Given the description of an element on the screen output the (x, y) to click on. 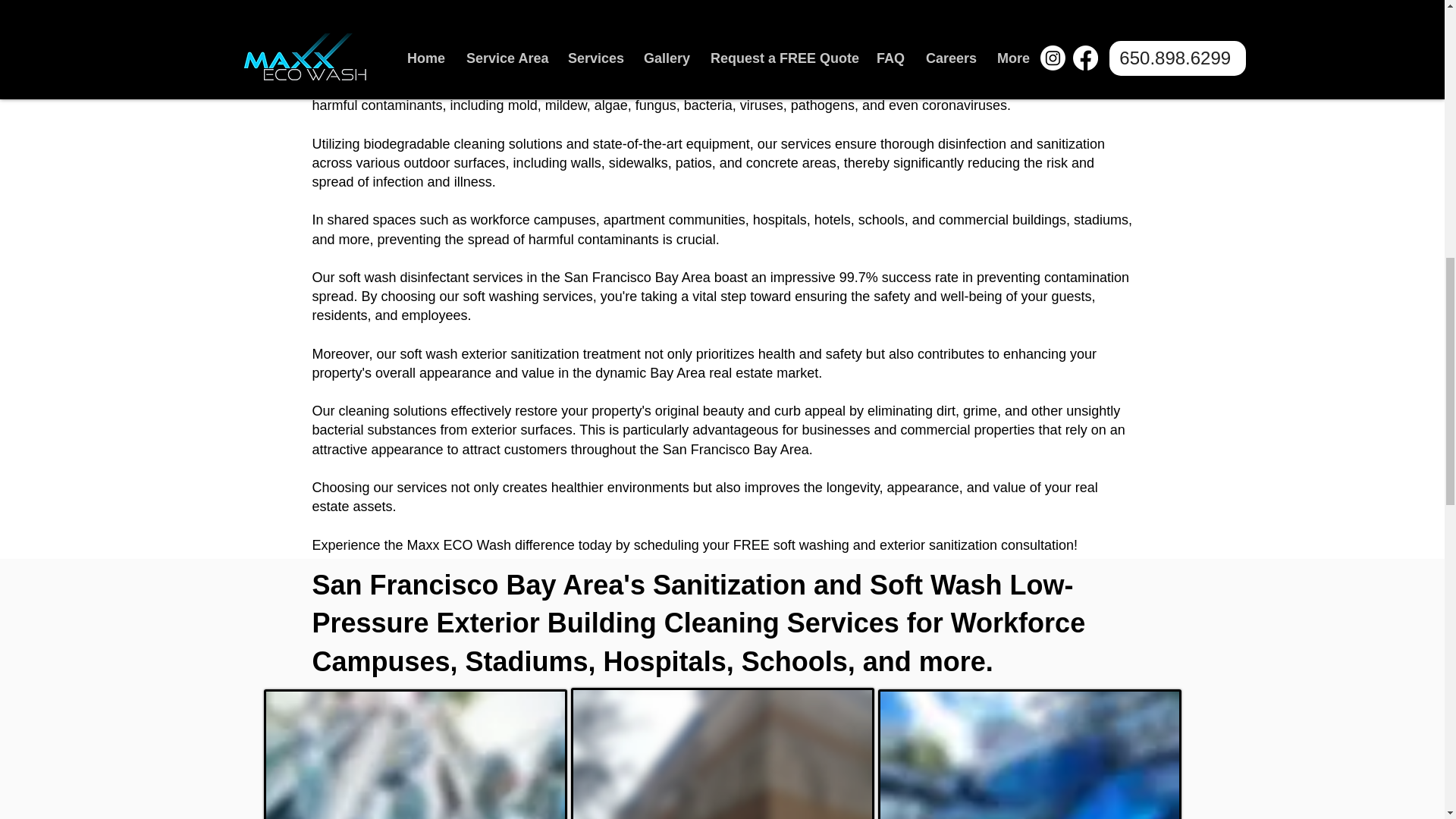
Hotel Soft Wash Exterior Cleaning (1028, 754)
Escalator Handrail Sanitization (415, 754)
